Given the description of an element on the screen output the (x, y) to click on. 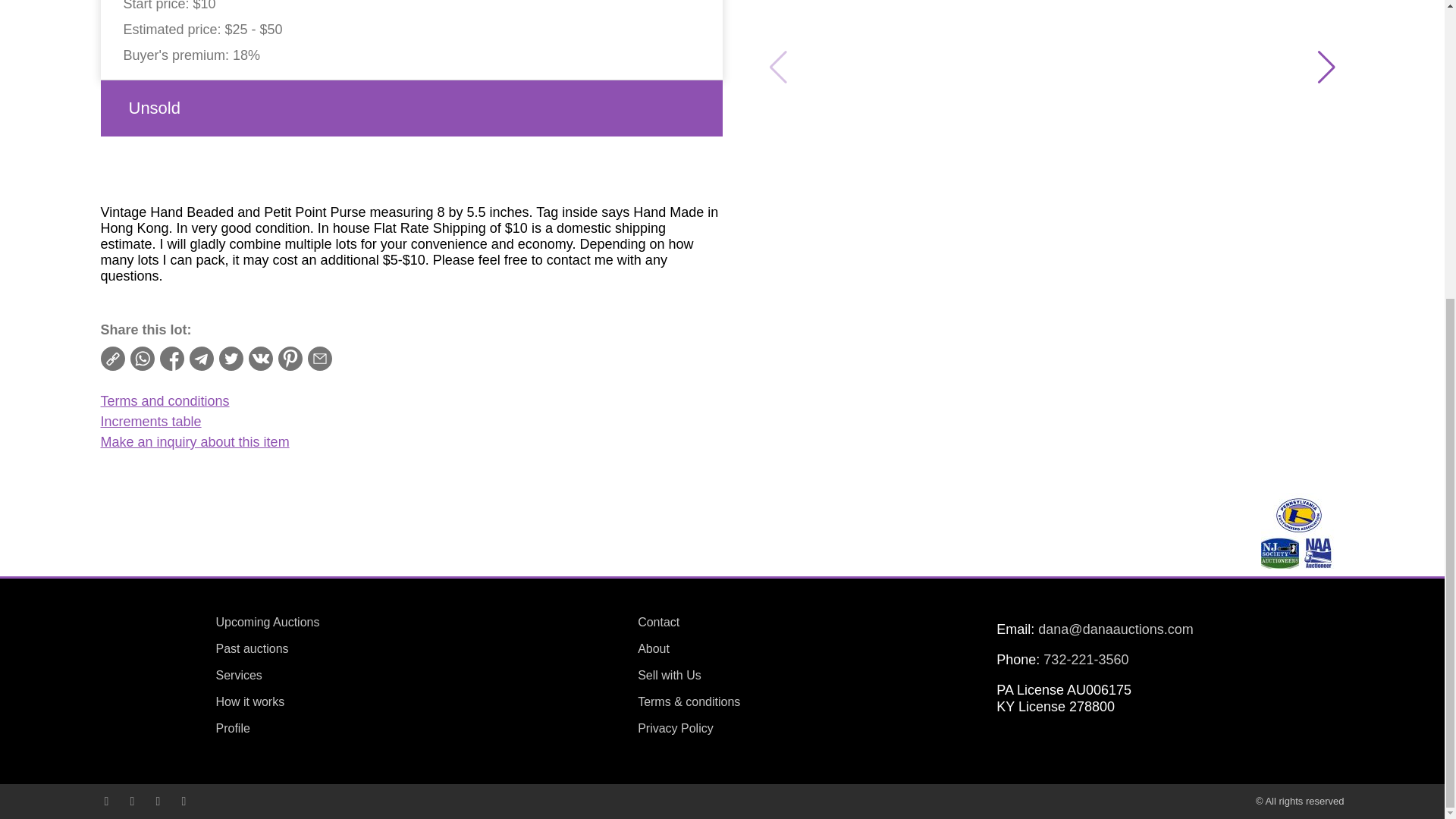
collage (1298, 530)
